Given the description of an element on the screen output the (x, y) to click on. 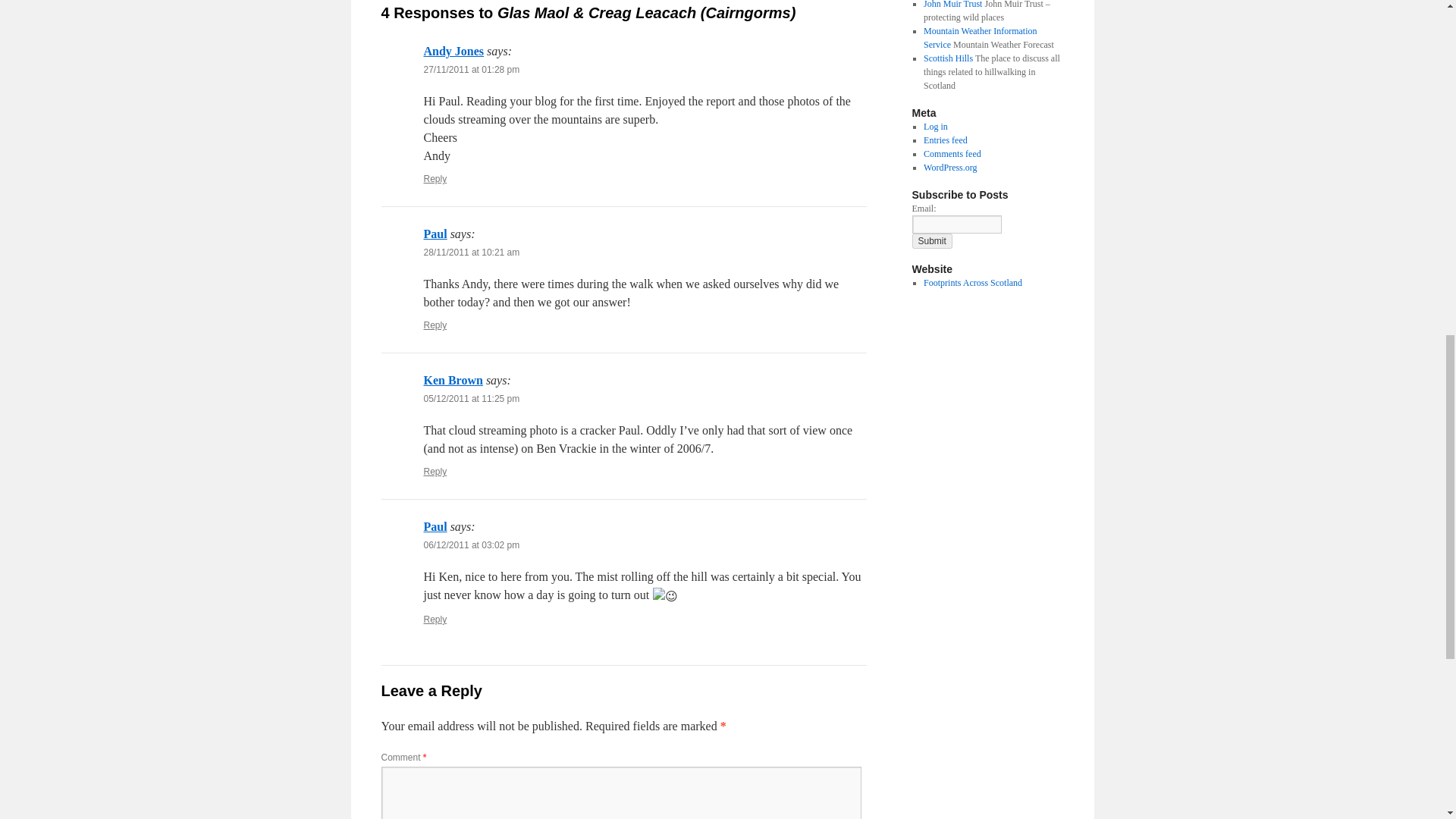
Reply (434, 178)
Paul (434, 233)
Reply (434, 619)
Andy Jones (453, 51)
Ken Brown (452, 379)
Paul (434, 526)
Reply (434, 471)
Submit (931, 240)
Reply (434, 325)
